Given the description of an element on the screen output the (x, y) to click on. 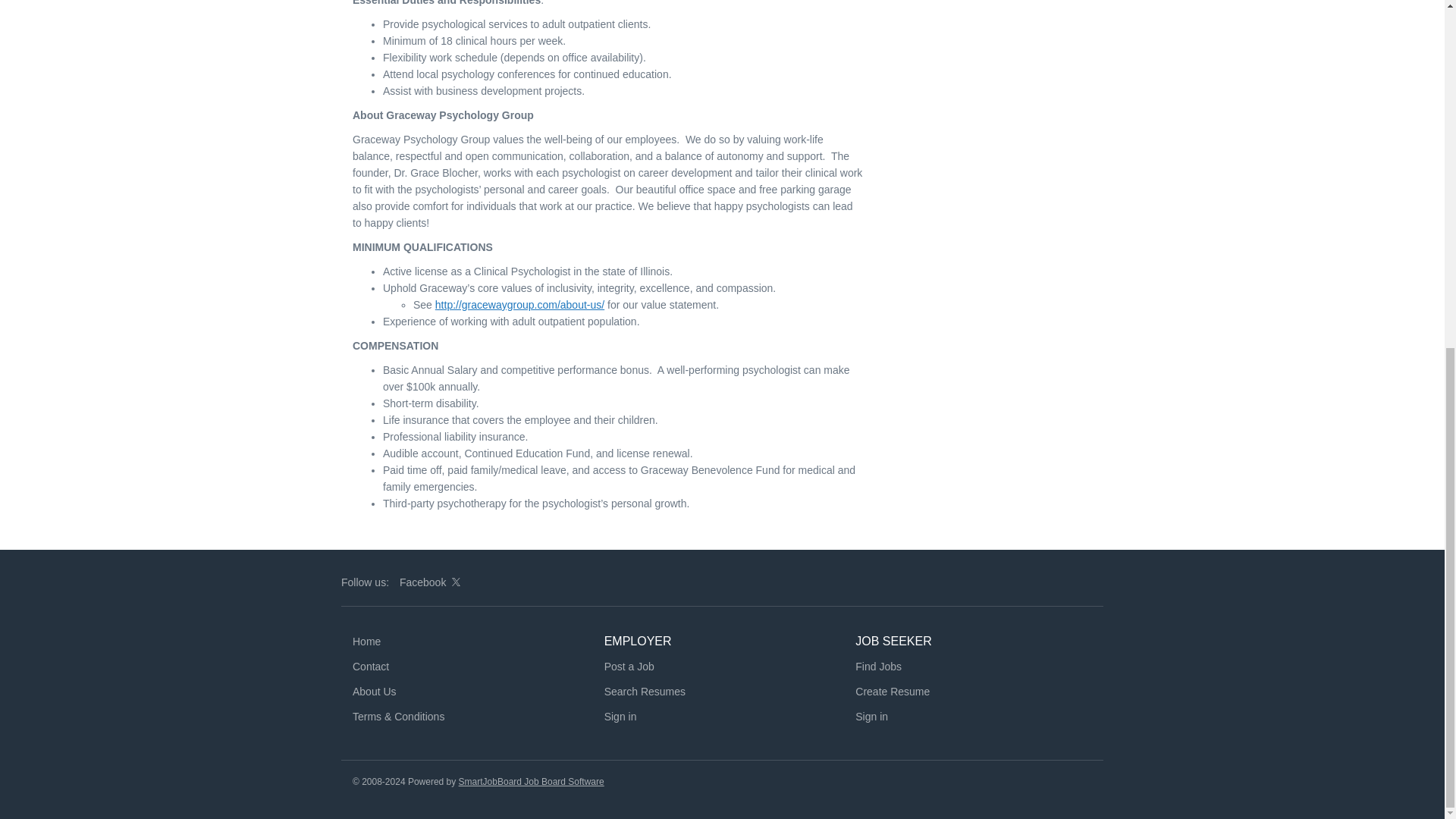
Job Board Software, Script (531, 781)
